Given the description of an element on the screen output the (x, y) to click on. 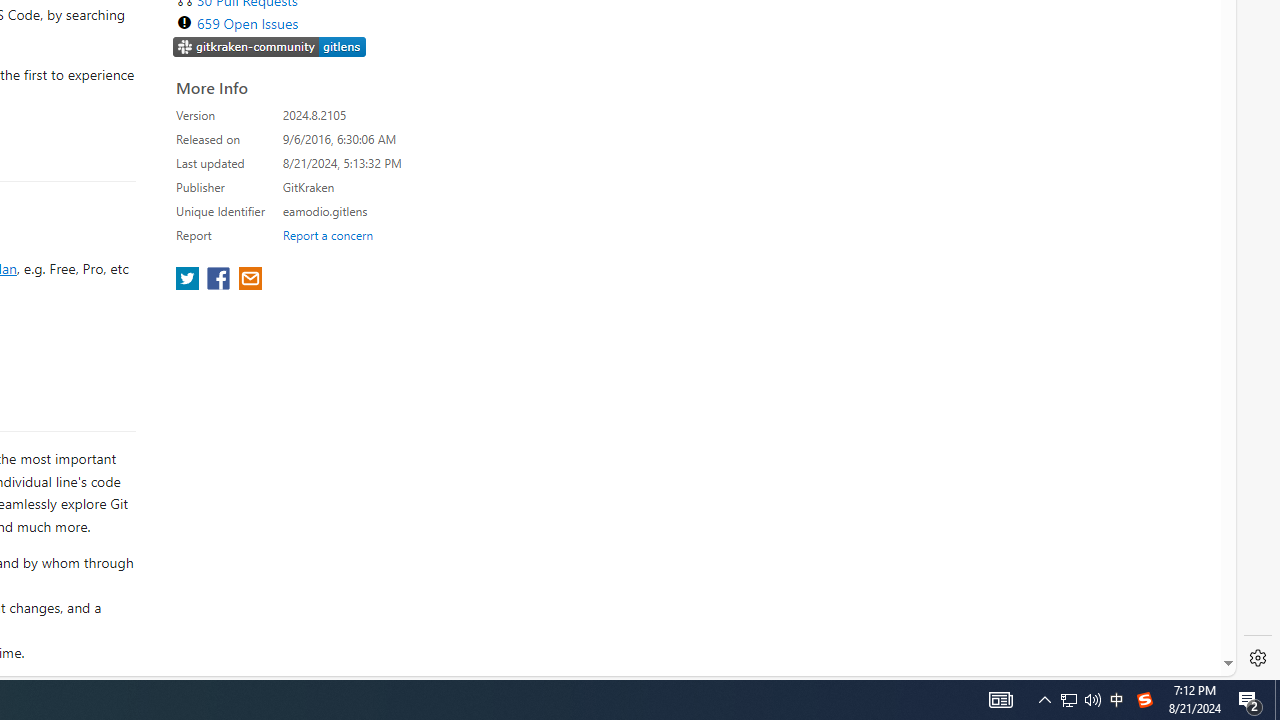
share extension on facebook (220, 280)
https://slack.gitkraken.com// (269, 48)
share extension on email (249, 280)
https://slack.gitkraken.com// (269, 46)
share extension on twitter (190, 280)
Report a concern (327, 234)
